Given the description of an element on the screen output the (x, y) to click on. 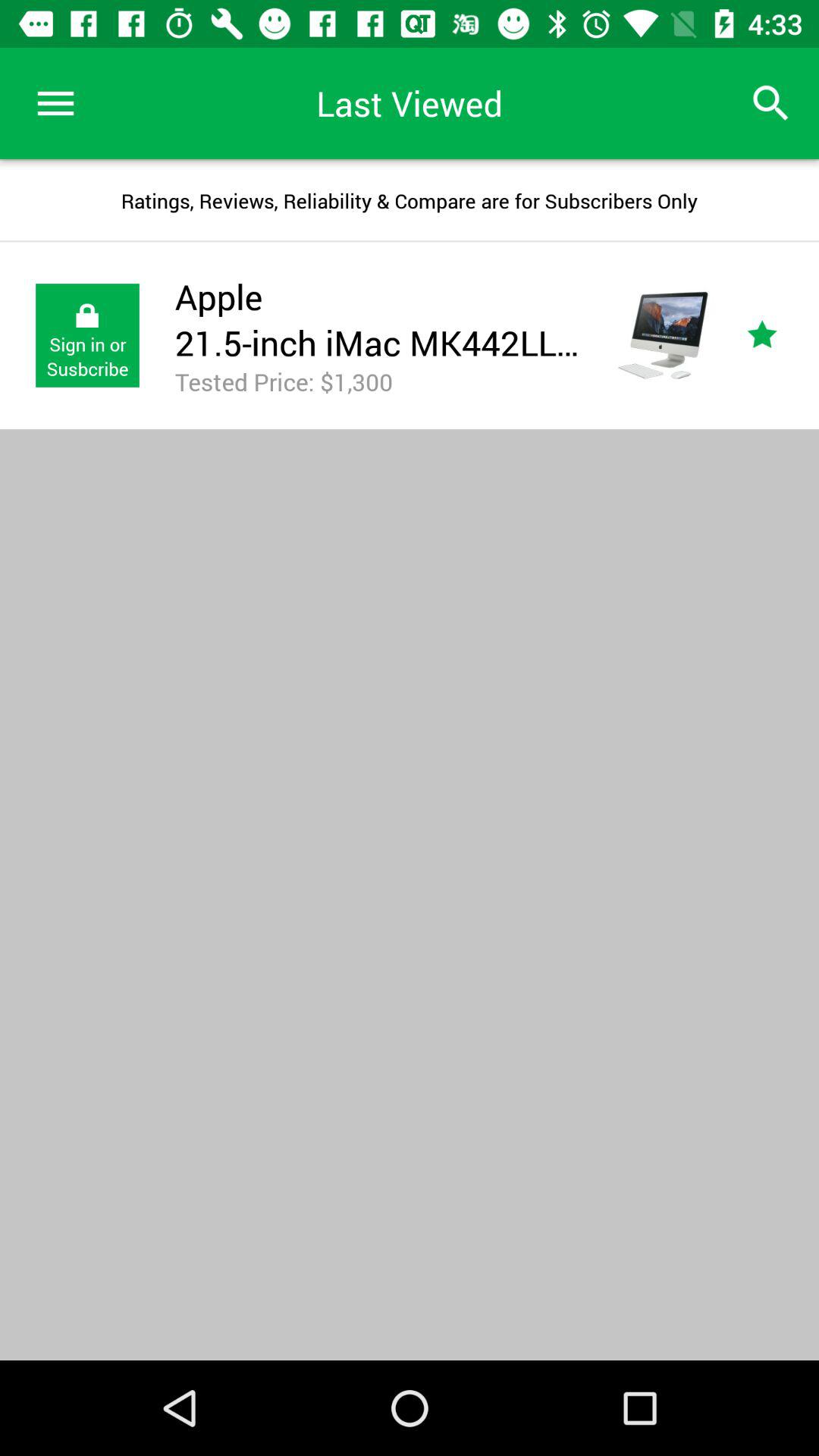
click the item below ratings reviews reliability item (779, 335)
